Given the description of an element on the screen output the (x, y) to click on. 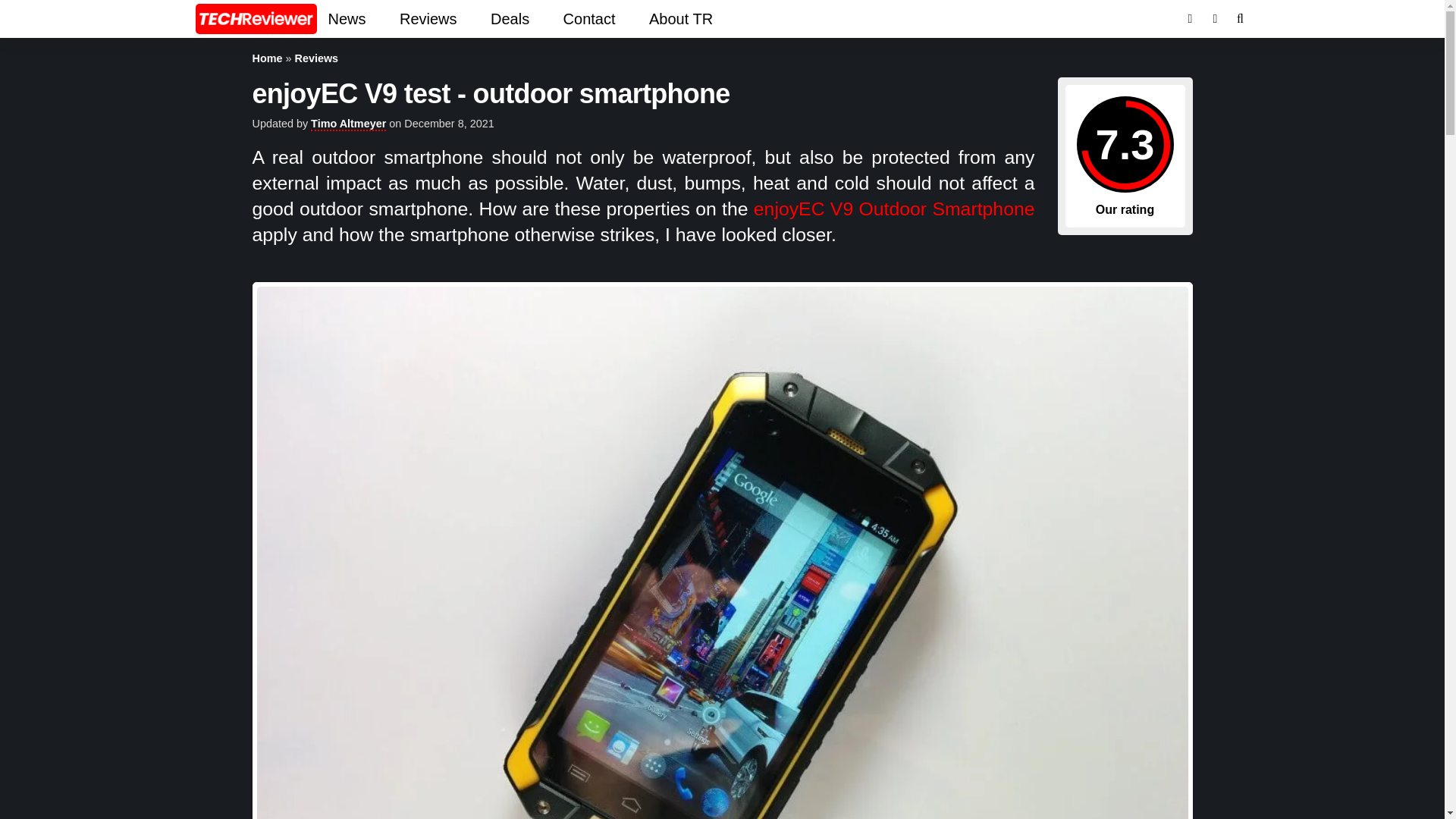
contact form (589, 18)
Deals (510, 18)
Reviews (427, 18)
about (680, 18)
News (349, 18)
About TR (680, 18)
tech reviewer (256, 19)
Contact (589, 18)
Timo Altmeyer (348, 124)
Home (266, 58)
